Given the description of an element on the screen output the (x, y) to click on. 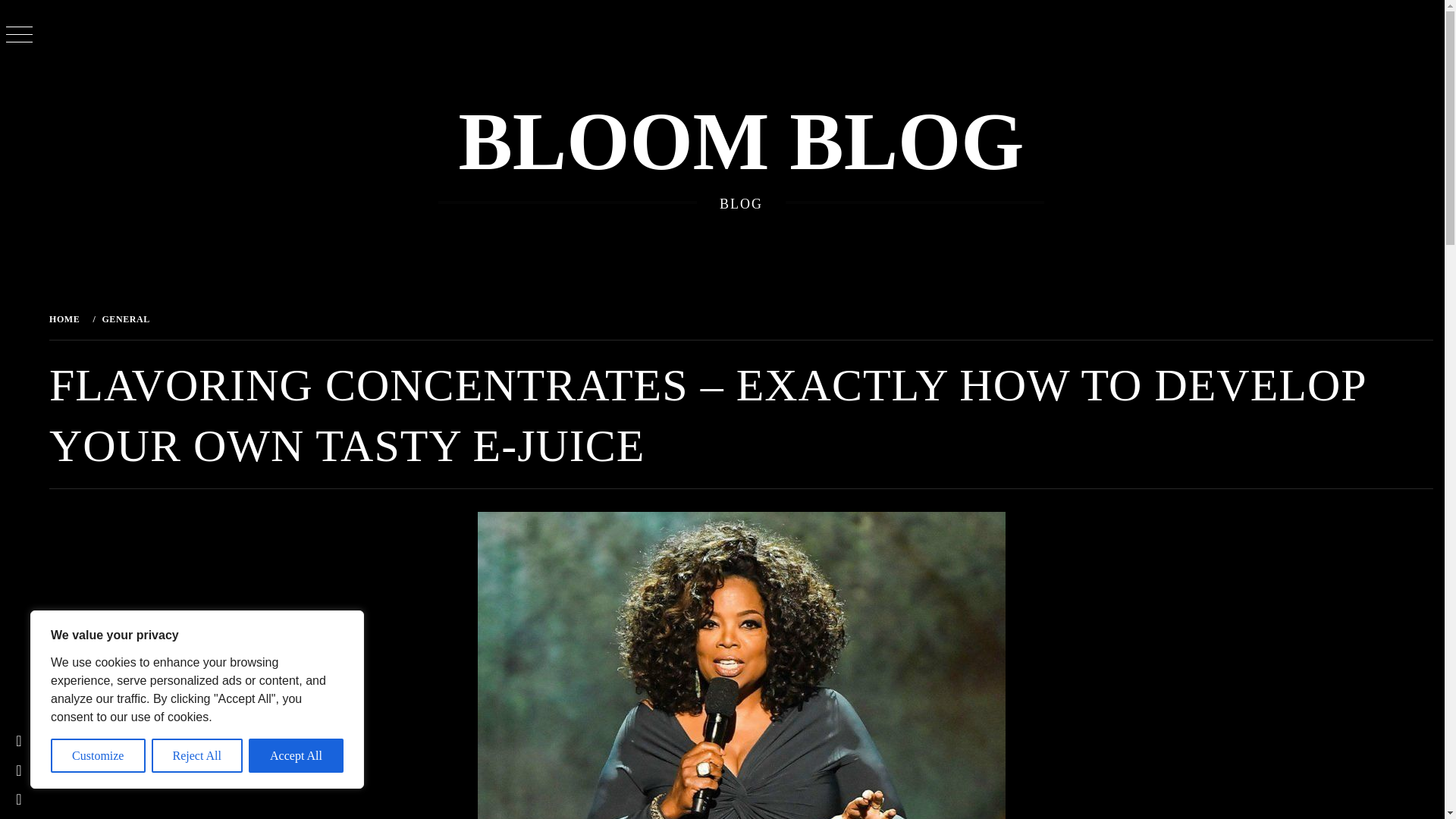
BLOOM BLOG (740, 141)
Reject All (197, 755)
Customize (97, 755)
HOME (66, 318)
Accept All (295, 755)
GENERAL (124, 318)
